Given the description of an element on the screen output the (x, y) to click on. 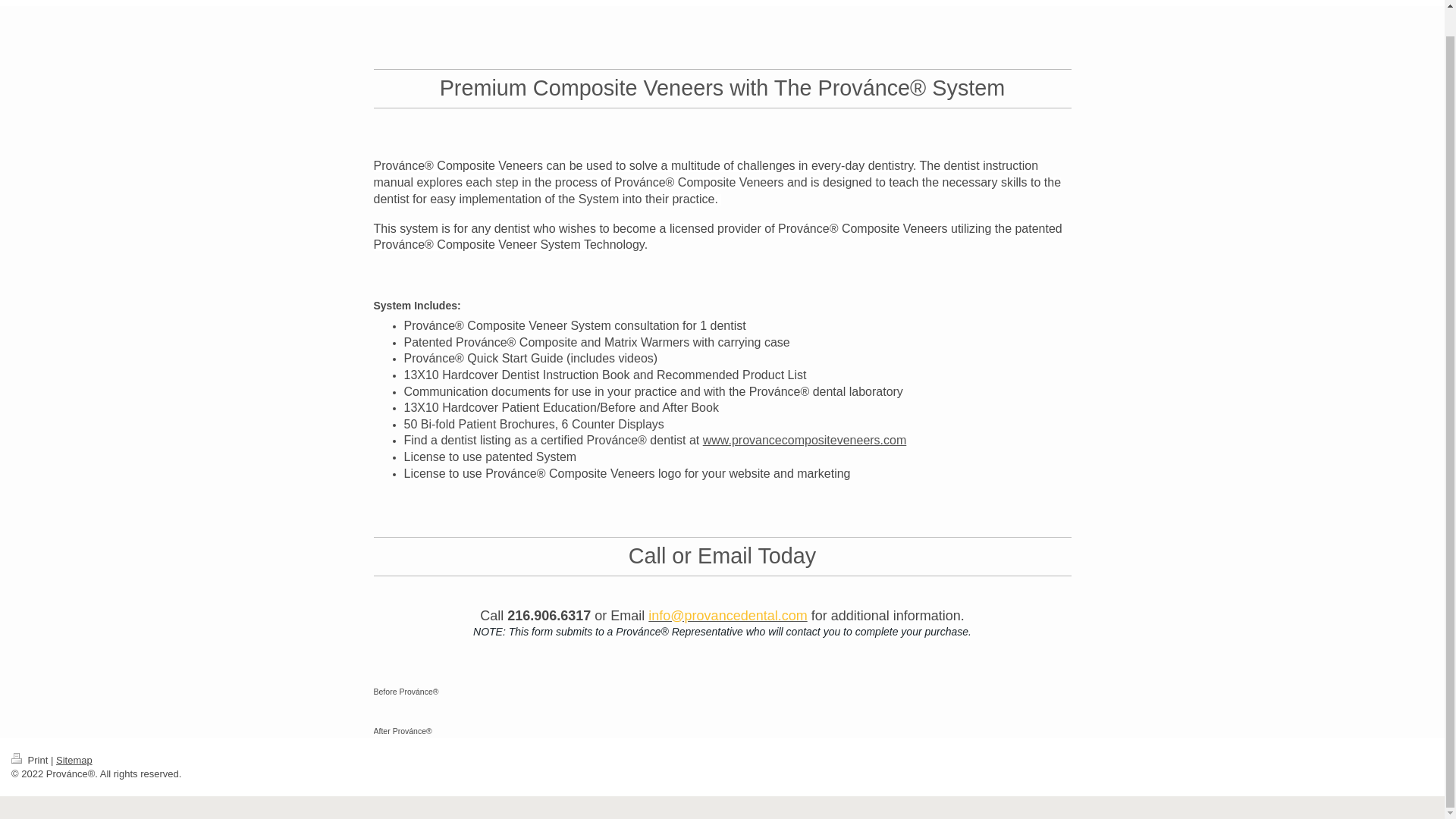
Sitemap (74, 759)
www.provancecompositeveneers.com (805, 440)
Print (30, 759)
